Given the description of an element on the screen output the (x, y) to click on. 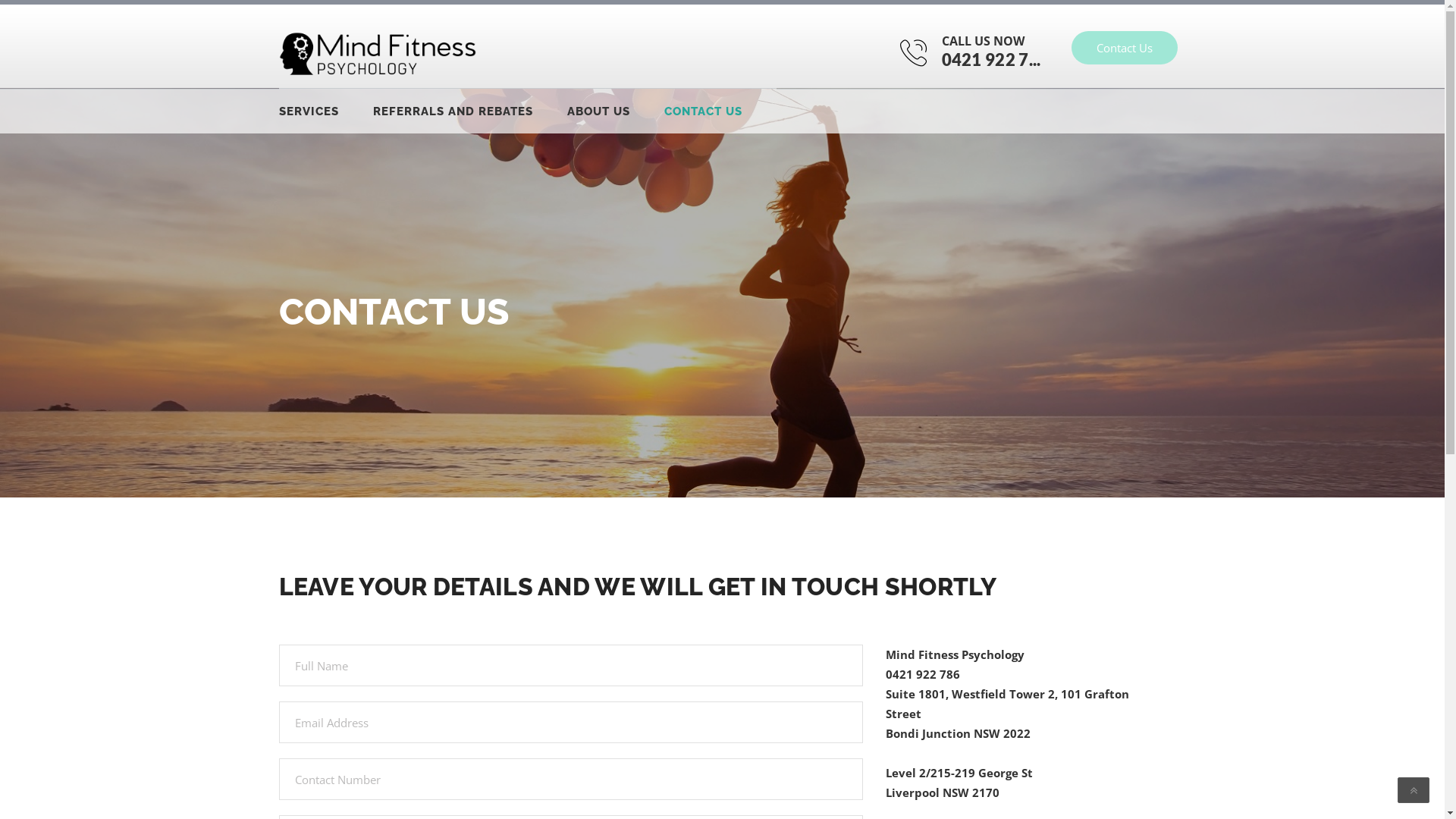
ABOUT US Element type: text (615, 111)
CONTACT US Element type: text (720, 111)
0421 922 7... Element type: text (991, 59)
REFERRALS AND REBATES Element type: text (470, 111)
Contact Us Element type: text (1123, 47)
SERVICES Element type: text (326, 111)
